Given the description of an element on the screen output the (x, y) to click on. 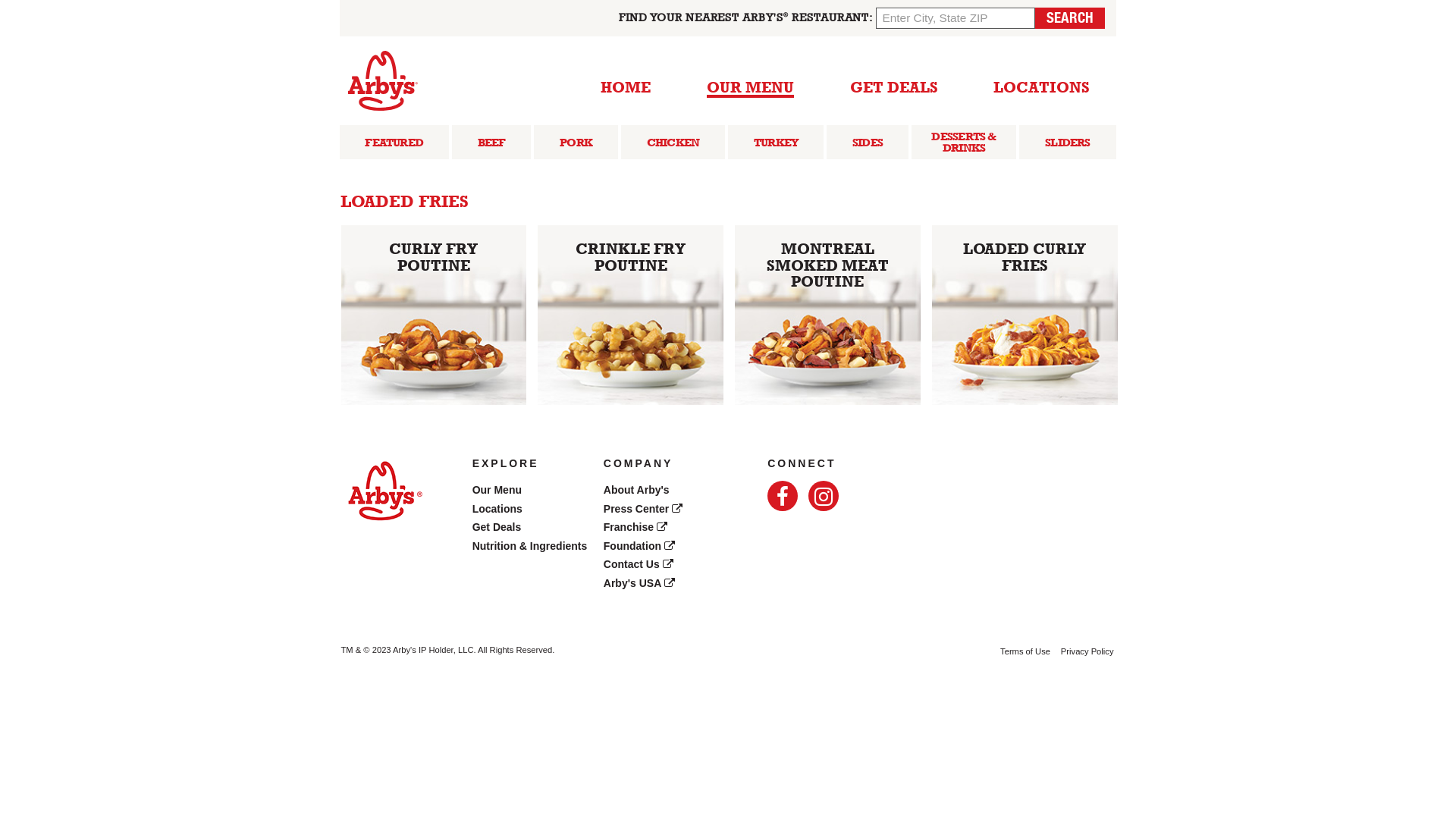
Nutrition & Ingredients Element type: text (529, 545)
Terms of Use Element type: text (1025, 650)
HOME Element type: text (625, 83)
BEEF Element type: text (491, 142)
Get Deals Element type: text (496, 526)
Locations Element type: text (497, 508)
Like us on Facebook Element type: text (782, 495)
CRINKLE FRY POUTINE Element type: text (630, 314)
About Arby's Element type: text (636, 489)
Our Menu Element type: text (496, 489)
Press Center Element type: text (642, 508)
LOCATIONS Element type: text (1041, 83)
Contact Us Element type: text (638, 564)
SLIDERS Element type: text (1067, 142)
CURLY FRY POUTINE Element type: text (434, 314)
SIDES Element type: text (867, 142)
GET DEALS Element type: text (894, 83)
SEARCH Element type: text (1069, 17)
Foundation Element type: text (638, 545)
OUR MENU Element type: text (749, 84)
CHICKEN Element type: text (672, 142)
Privacy Policy Element type: text (1086, 650)
Arbys Logo Element type: text (382, 494)
TURKEY Element type: text (775, 142)
LOADED CURLY FRIES Element type: text (1024, 314)
Follow us on Instagram Element type: text (823, 495)
Franchise Element type: text (635, 526)
Arby's USA Element type: text (638, 583)
MONTREAL SMOKED MEAT POUTINE Element type: text (827, 314)
FEATURED Element type: text (393, 142)
DESSERTS & DRINKS Element type: text (963, 142)
back to homepage Element type: hover (382, 80)
PORK Element type: text (575, 142)
